Given the description of an element on the screen output the (x, y) to click on. 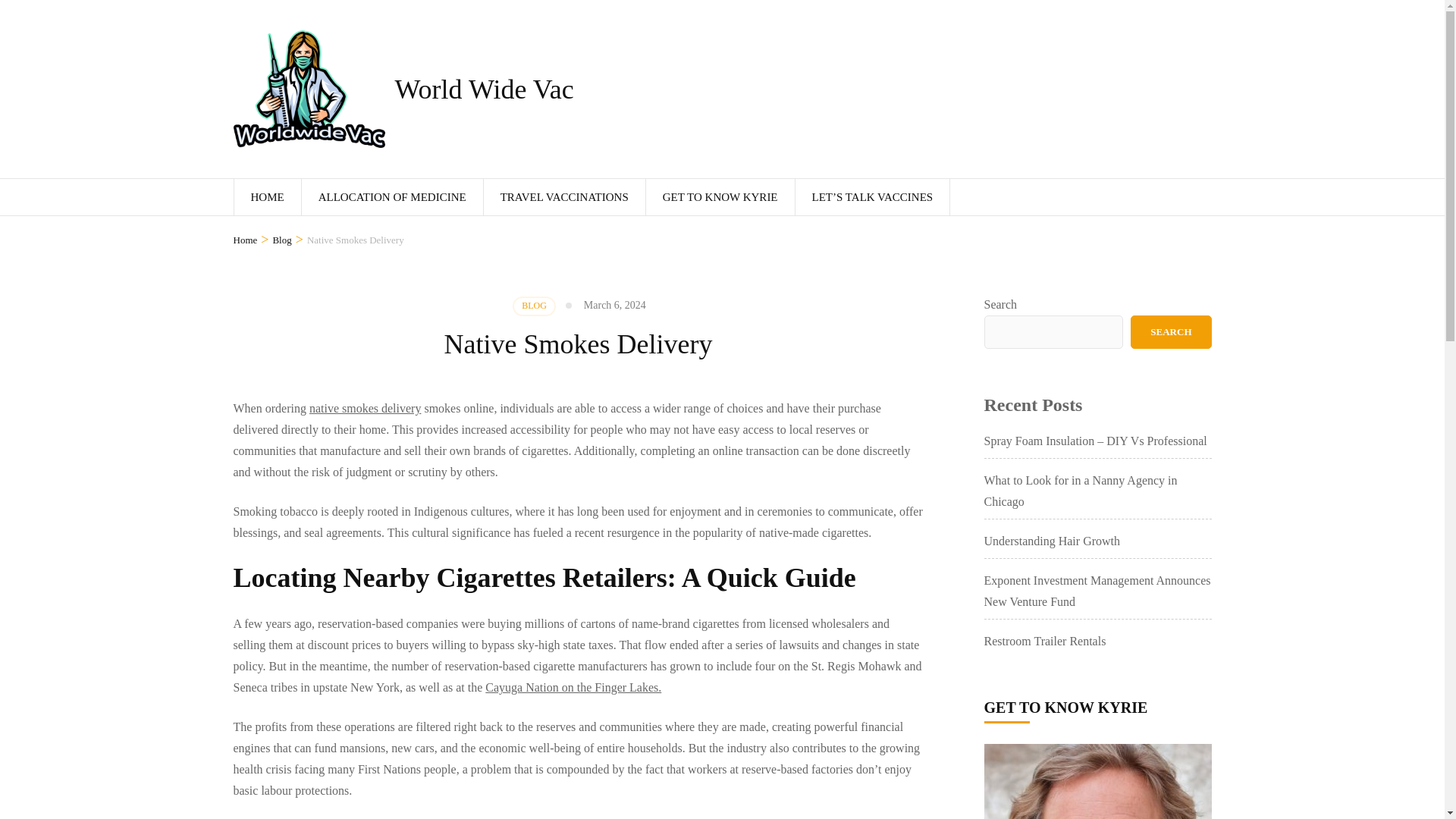
native smokes delivery (365, 408)
March 6, 2024 (614, 305)
World Wide Vac (483, 89)
BLOG (534, 306)
GET TO KNOW KYRIE (720, 197)
ALLOCATION OF MEDICINE (392, 197)
Blog (281, 239)
HOME (265, 197)
TRAVEL VACCINATIONS (564, 197)
Native Smokes Delivery (355, 239)
